Given the description of an element on the screen output the (x, y) to click on. 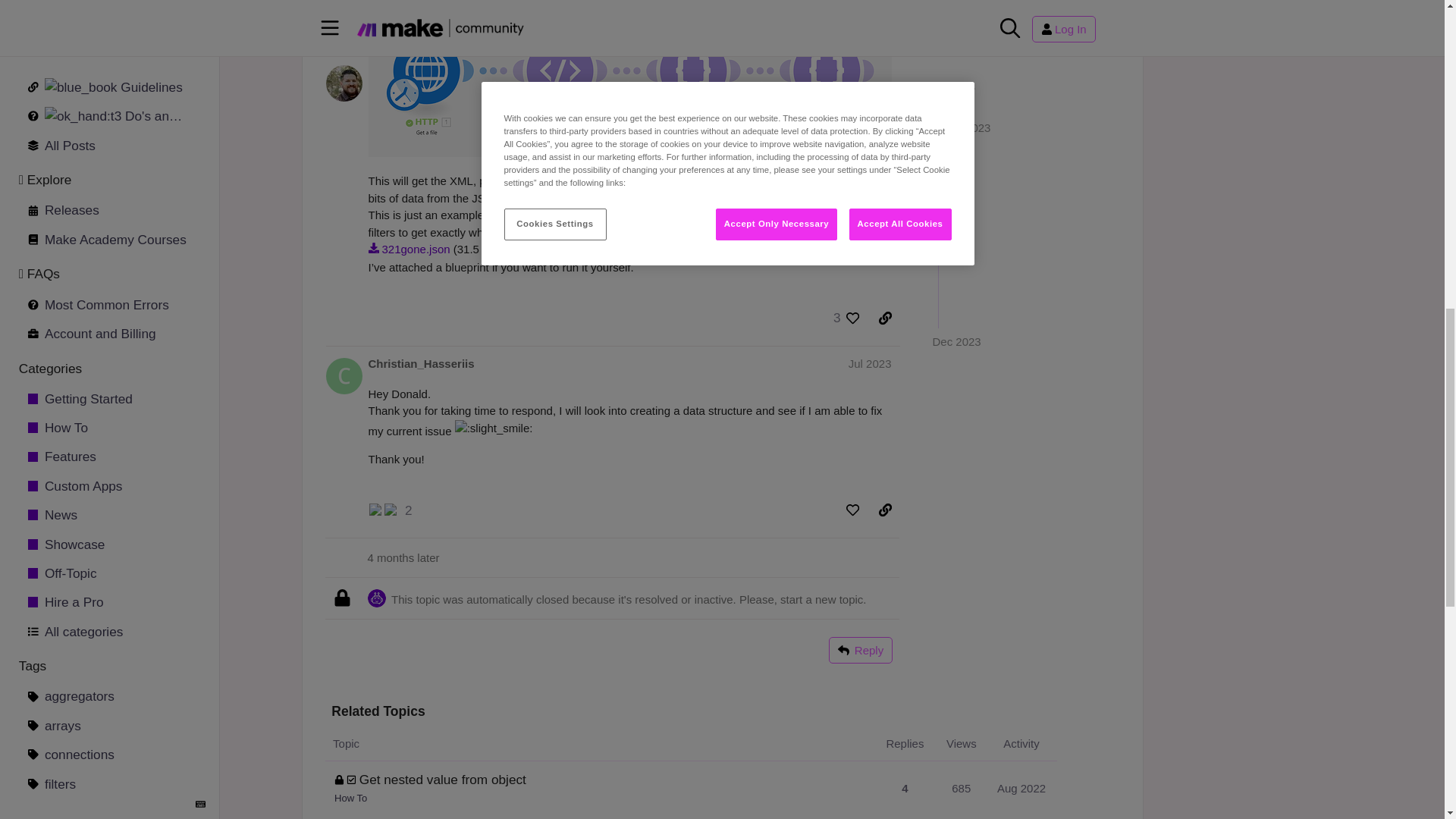
webhooks (108, 139)
scheduling (108, 80)
trigger (108, 110)
All tags (108, 167)
mapping (108, 22)
iterator (108, 3)
router (108, 51)
